Given the description of an element on the screen output the (x, y) to click on. 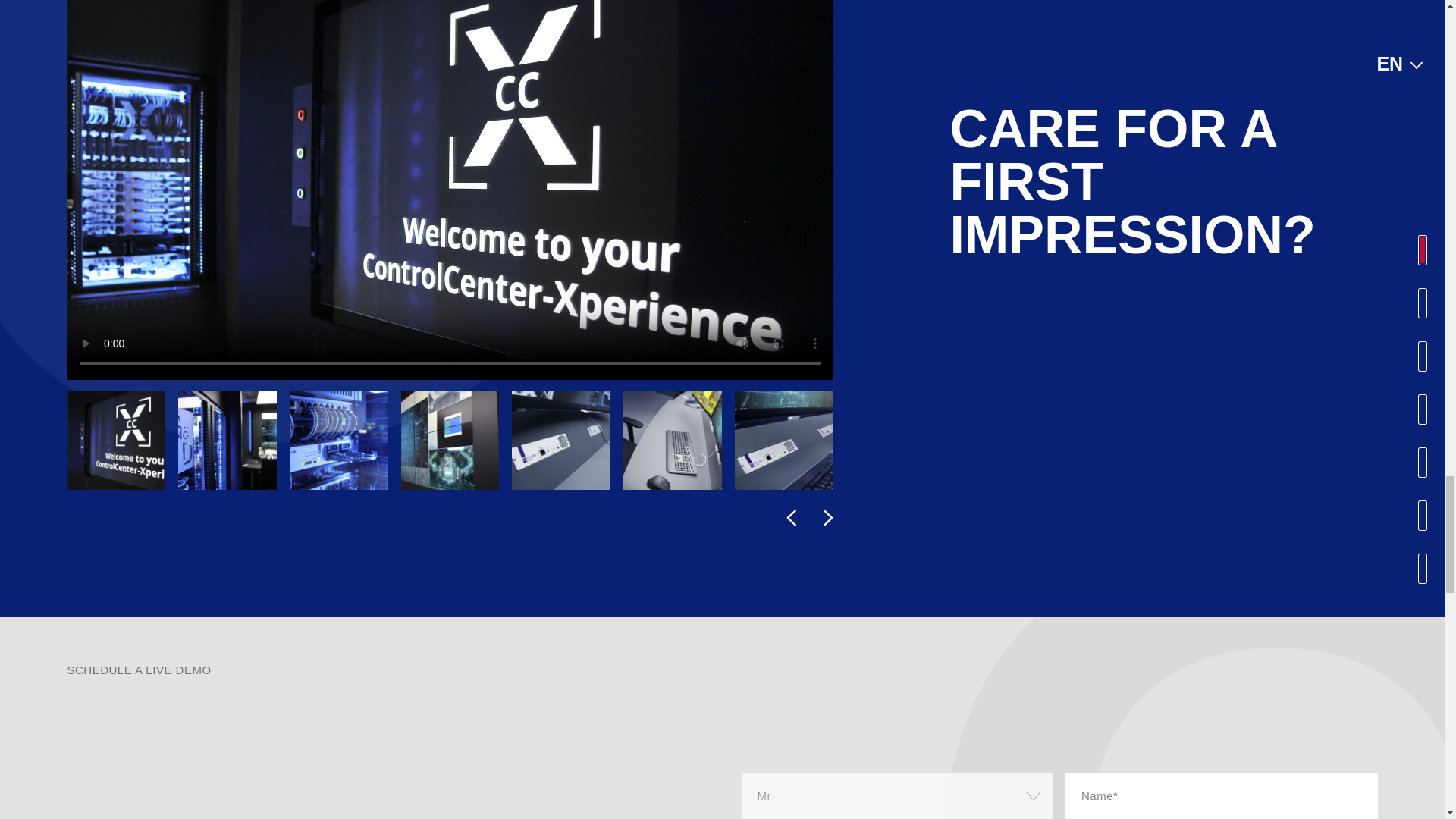
Contact form (1053, 796)
Title (897, 796)
Name (1221, 796)
